Given the description of an element on the screen output the (x, y) to click on. 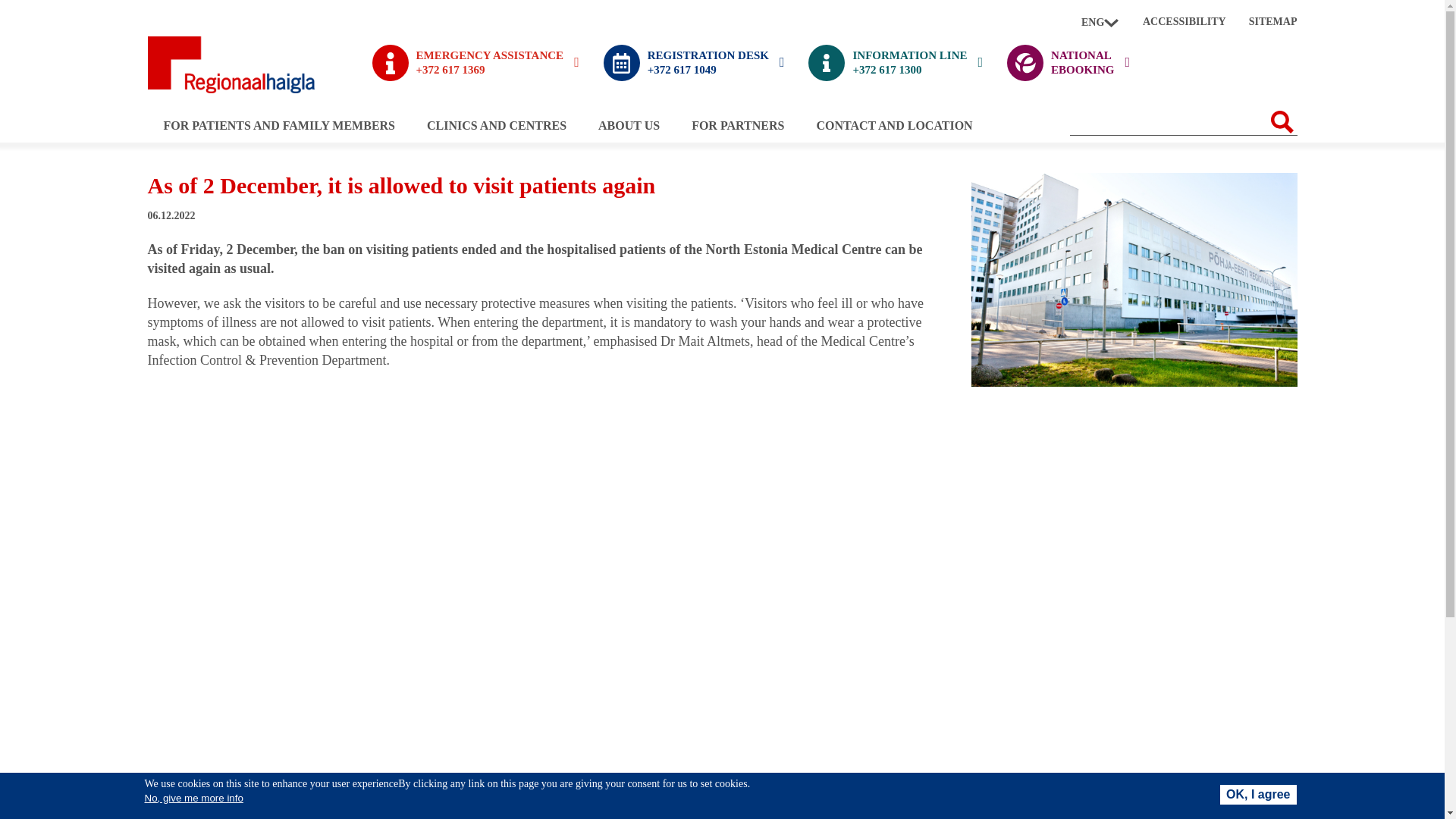
FOR PATIENTS AND FAMILY MEMBERS (278, 125)
Enter the terms you wish to search for. (1167, 121)
Digiregistry (694, 63)
ACCESSIBILITY (1183, 21)
As of 2 December, it is allowed to visit patients again (1134, 381)
As of 2 December, it is allowed to visit patients again (1068, 63)
SITEMAP (1100, 22)
CLINICS AND CENTRES (1273, 21)
ENG (496, 125)
Regionaalhaigla (1100, 22)
National ebooking (1134, 279)
